Given the description of an element on the screen output the (x, y) to click on. 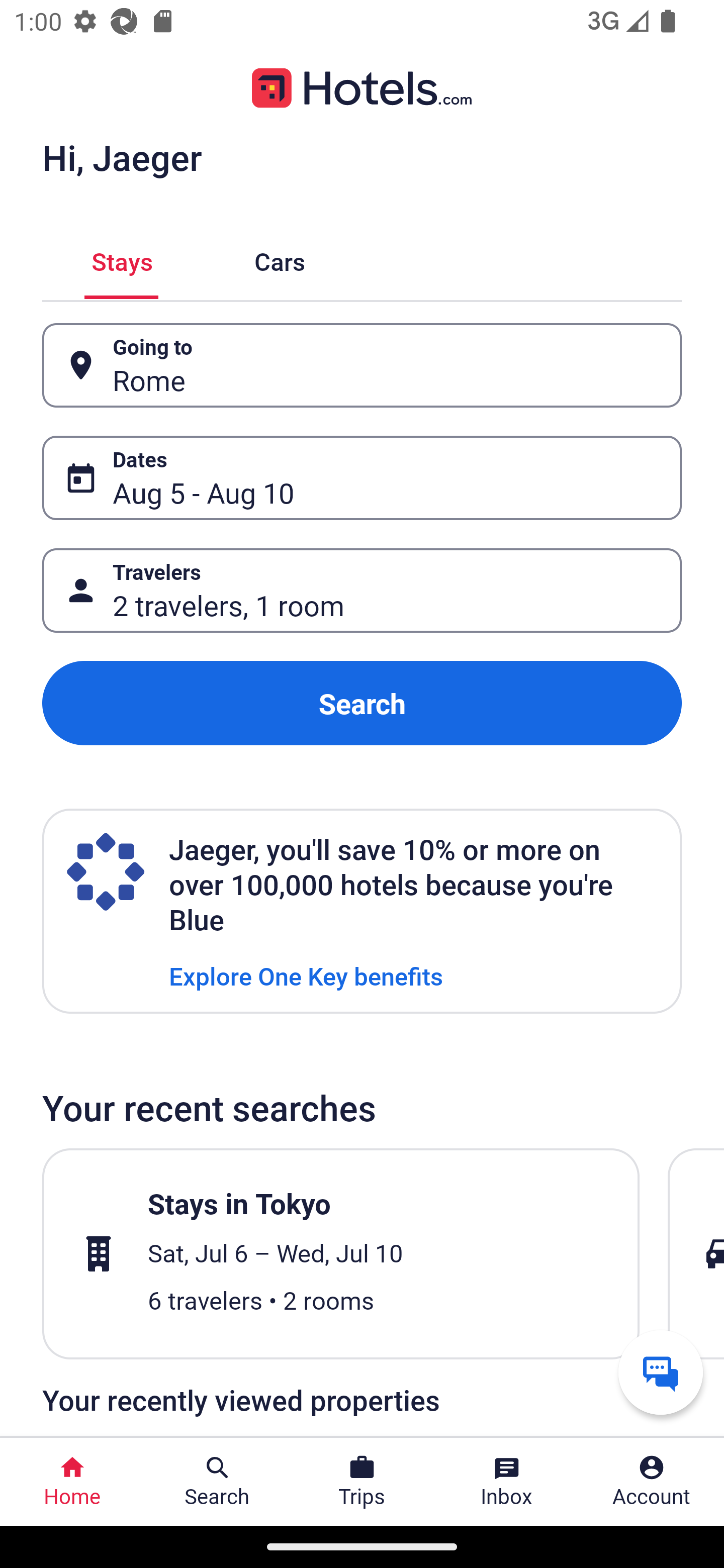
Hi, Jaeger (121, 156)
Cars (279, 259)
Going to Button Rome (361, 365)
Dates Button Aug 5 - Aug 10 (361, 477)
Travelers Button 2 travelers, 1 room (361, 590)
Search (361, 702)
Get help from a virtual agent (660, 1371)
Search Search Button (216, 1481)
Trips Trips Button (361, 1481)
Inbox Inbox Button (506, 1481)
Account Profile. Button (651, 1481)
